Given the description of an element on the screen output the (x, y) to click on. 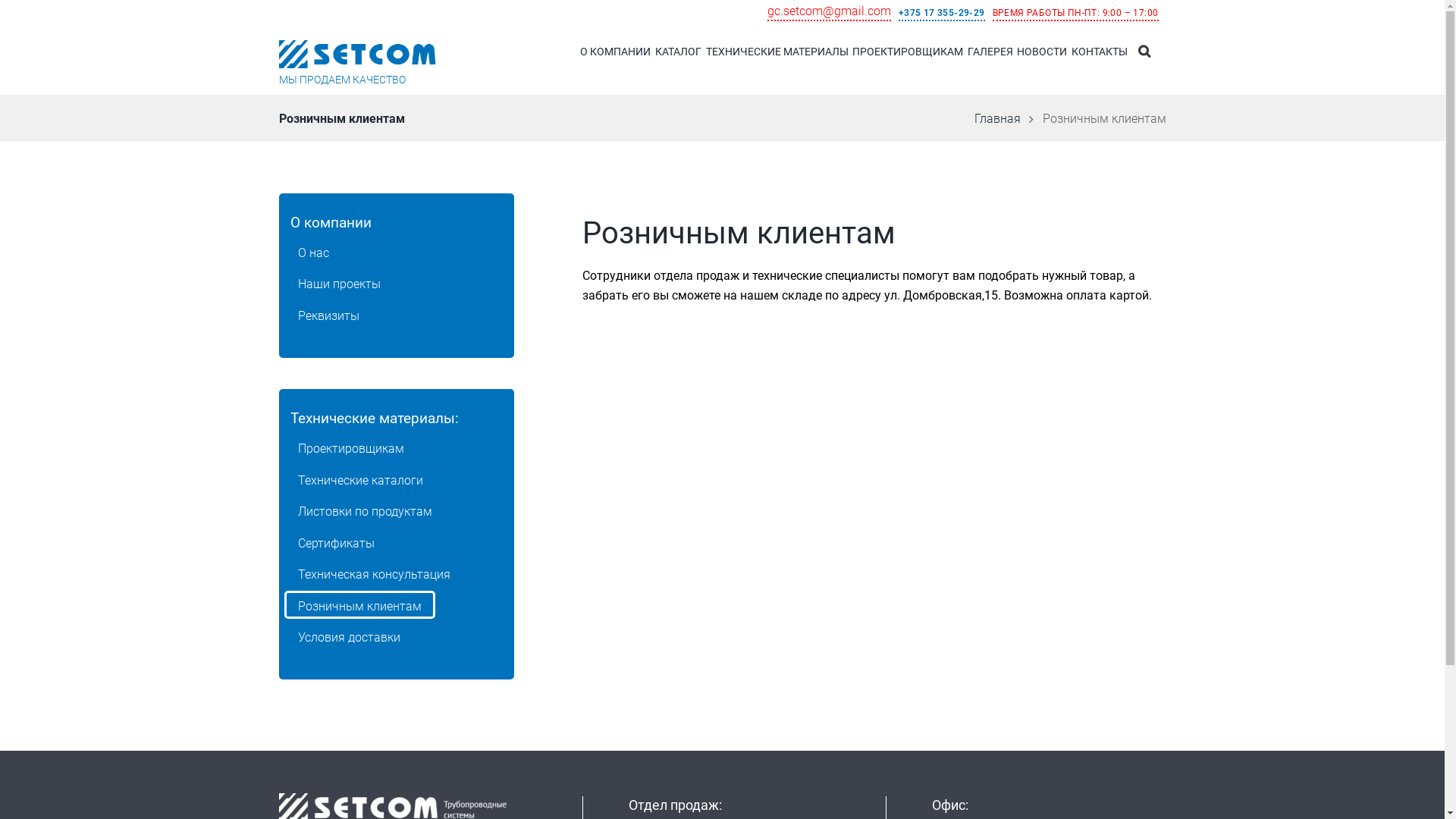
Open search Element type: hover (1144, 51)
gc.setcom@gmail.com Element type: text (829, 12)
+375 17 355-29-29 Element type: text (941, 14)
